Given the description of an element on the screen output the (x, y) to click on. 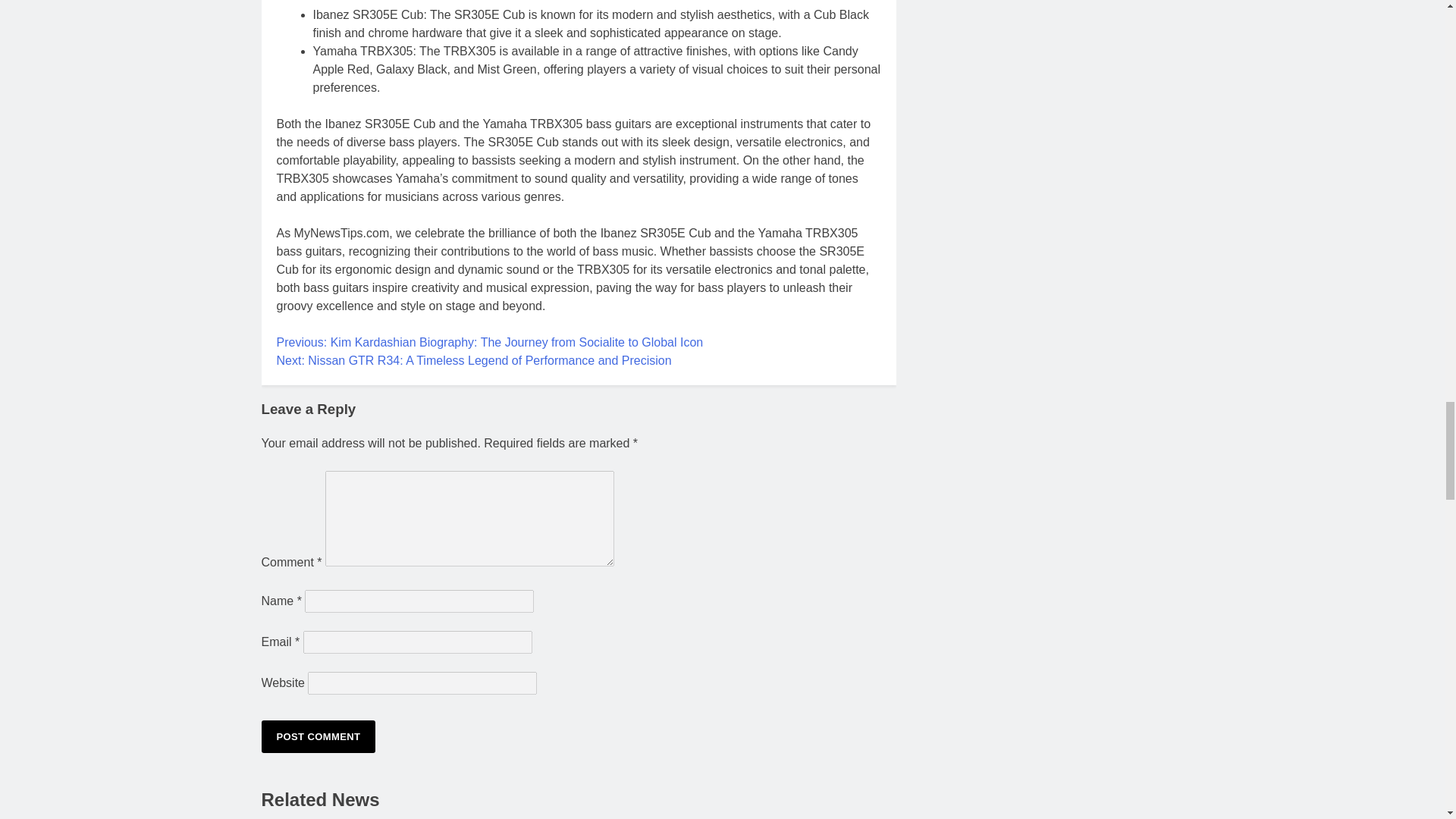
Post Comment (317, 736)
